Given the description of an element on the screen output the (x, y) to click on. 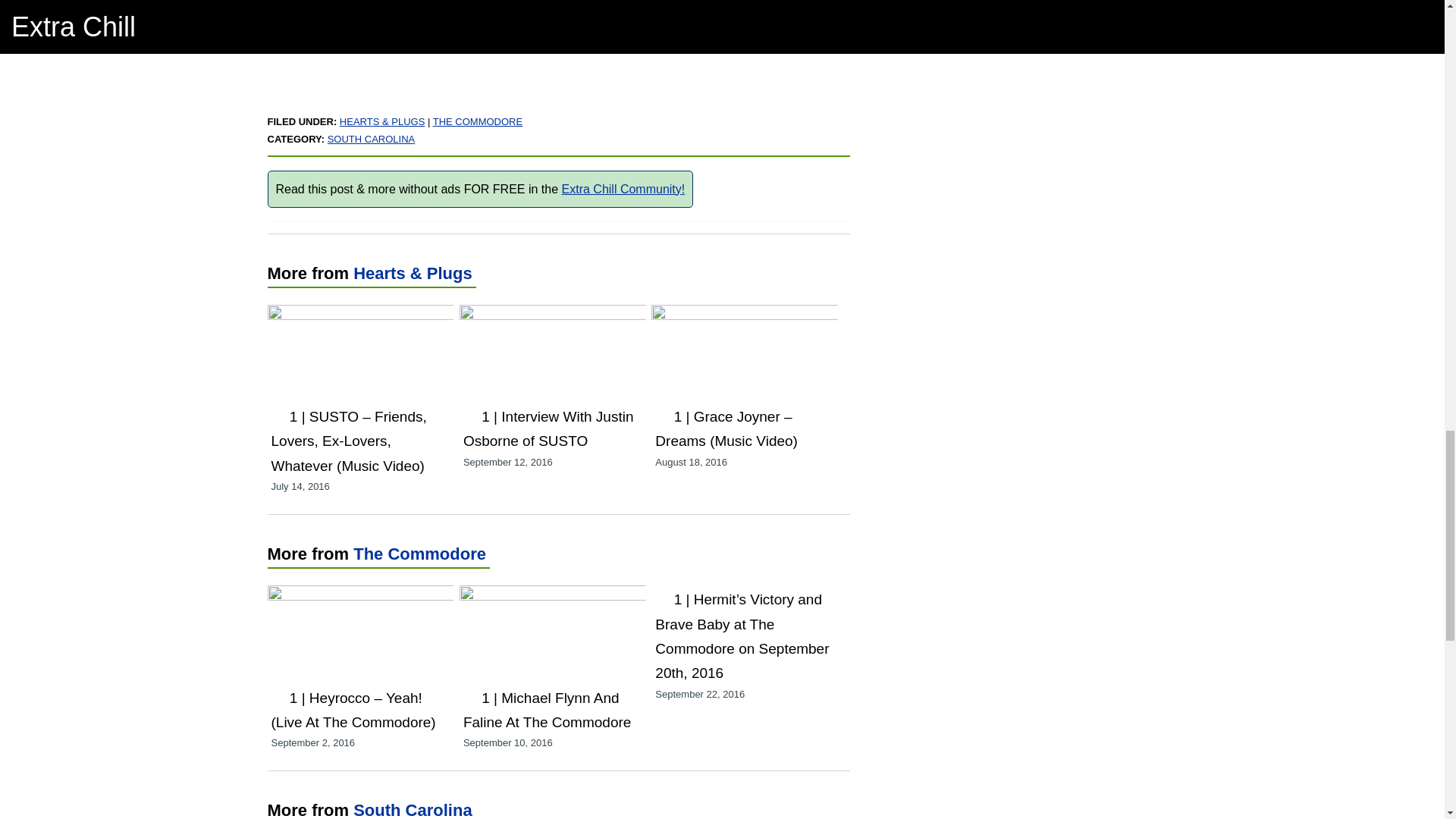
THE COMMODORE (477, 121)
Interview With Justin Osborne of SUSTO (553, 314)
Extra Chill Community! (623, 188)
Michael Flynn And Faline At The Commodore (546, 710)
Michael Flynn And Faline At The Commodore (553, 595)
Interview With Justin Osborne of SUSTO (548, 428)
SOUTH CAROLINA (370, 138)
